Given the description of an element on the screen output the (x, y) to click on. 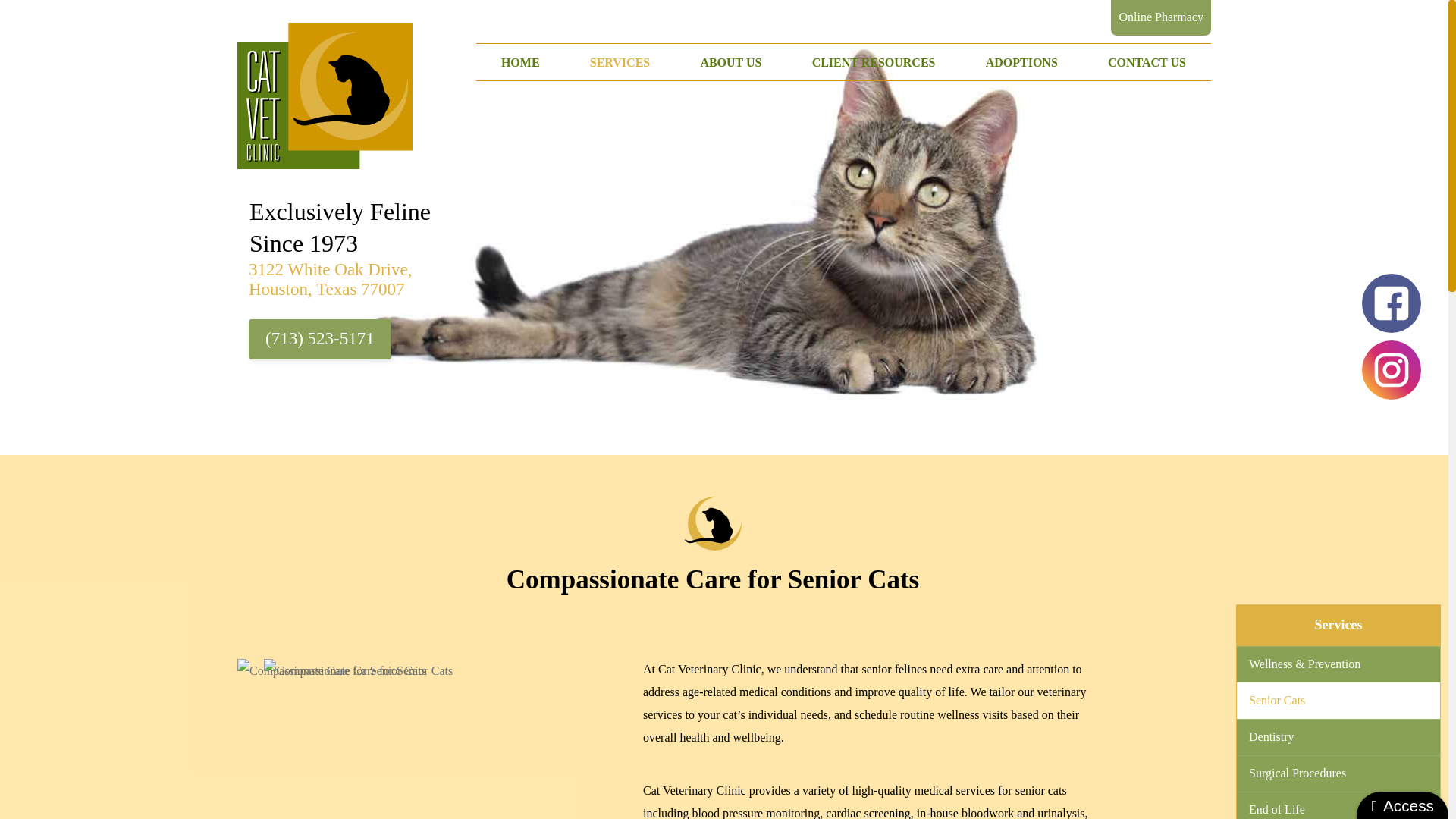
Facebook (1391, 300)
Services (1338, 625)
Online Pharmacy (1160, 18)
ABOUT US (730, 62)
ADOPTIONS (1021, 62)
CLIENT RESOURCES (873, 62)
Cat Vet Clinic (324, 95)
SERVICES (619, 62)
facebook (1391, 302)
instagram (1391, 369)
